Given the description of an element on the screen output the (x, y) to click on. 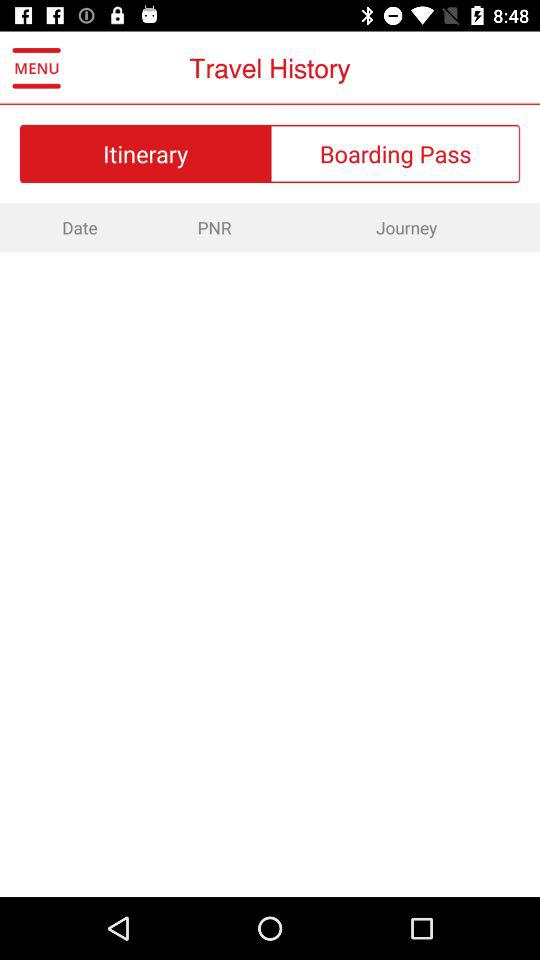
turn on journey icon (406, 227)
